Given the description of an element on the screen output the (x, y) to click on. 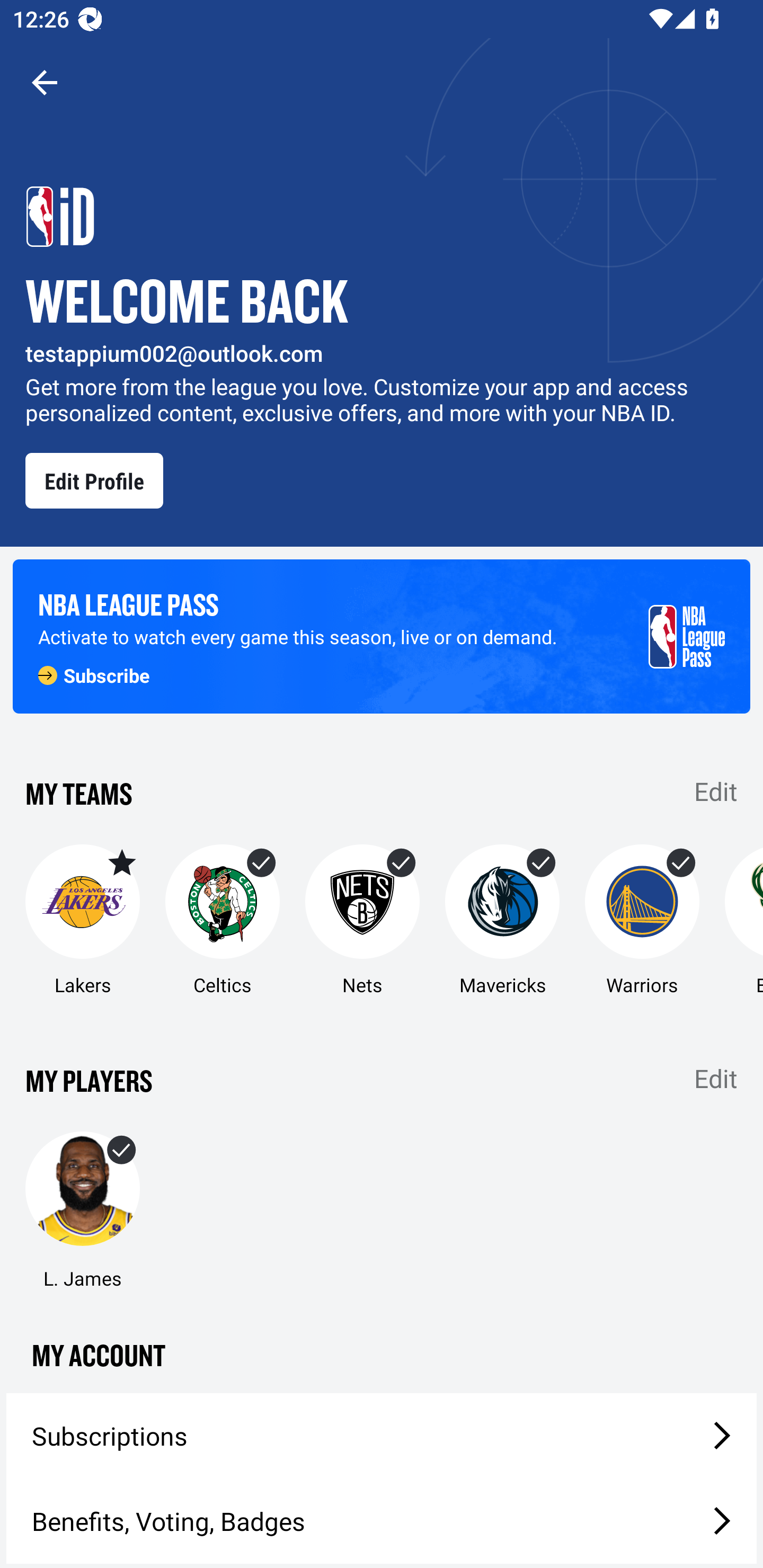
Navigate up (44, 82)
Edit Profile (94, 480)
Edit (715, 790)
Lakers (82, 921)
Celtics (222, 921)
Nets (362, 921)
Mavericks (501, 921)
Warriors (642, 921)
Edit (715, 1078)
L. James (82, 1211)
Subscriptions (381, 1435)
Benefits, Voting, Badges (381, 1520)
